Given the description of an element on the screen output the (x, y) to click on. 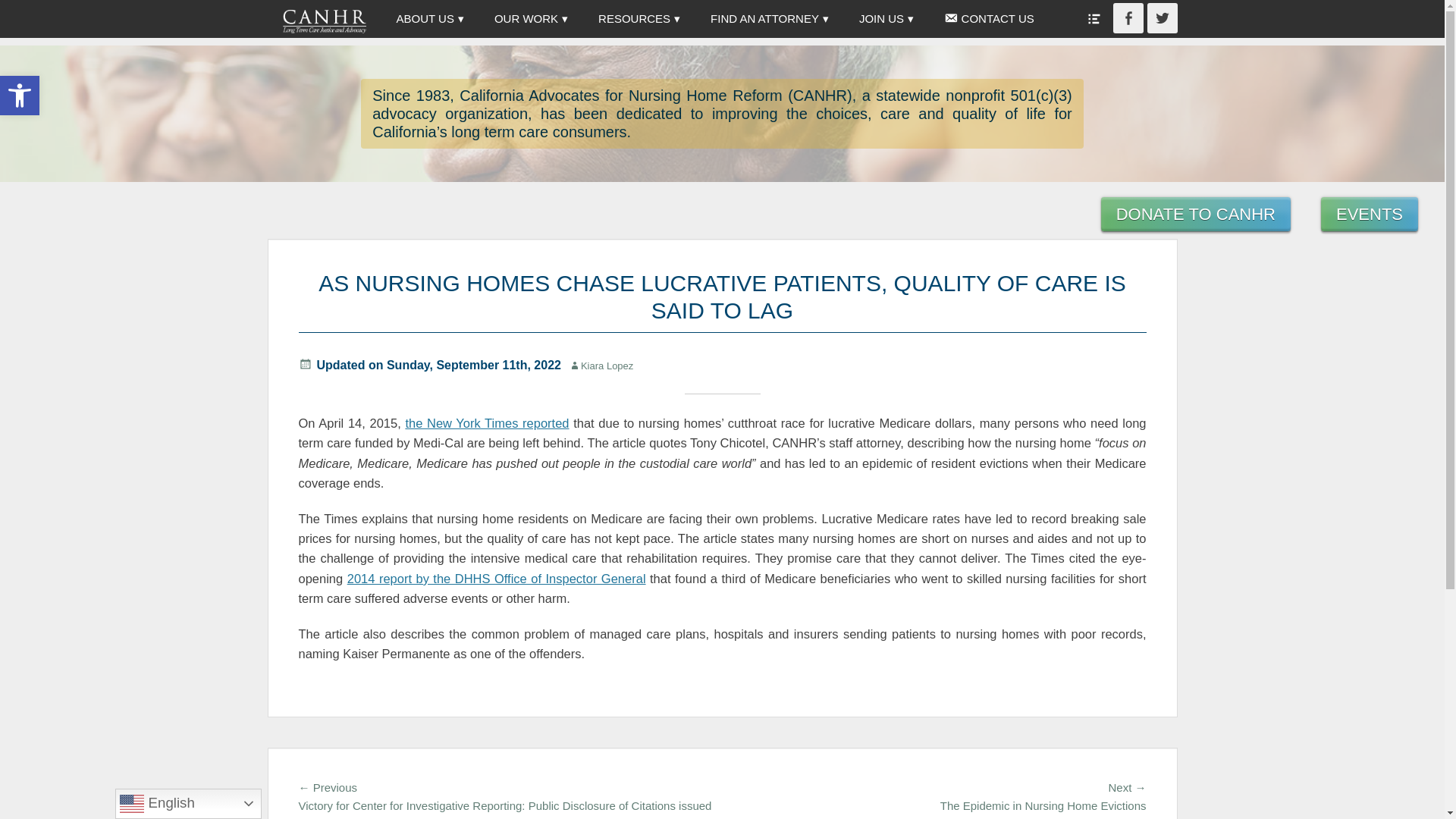
RESOURCES (19, 95)
Accessibility Tools (639, 18)
ABOUT US (19, 95)
OUR WORK (429, 18)
Twitter (531, 18)
Accessibility Tools (1161, 18)
Facebook (19, 95)
